Given the description of an element on the screen output the (x, y) to click on. 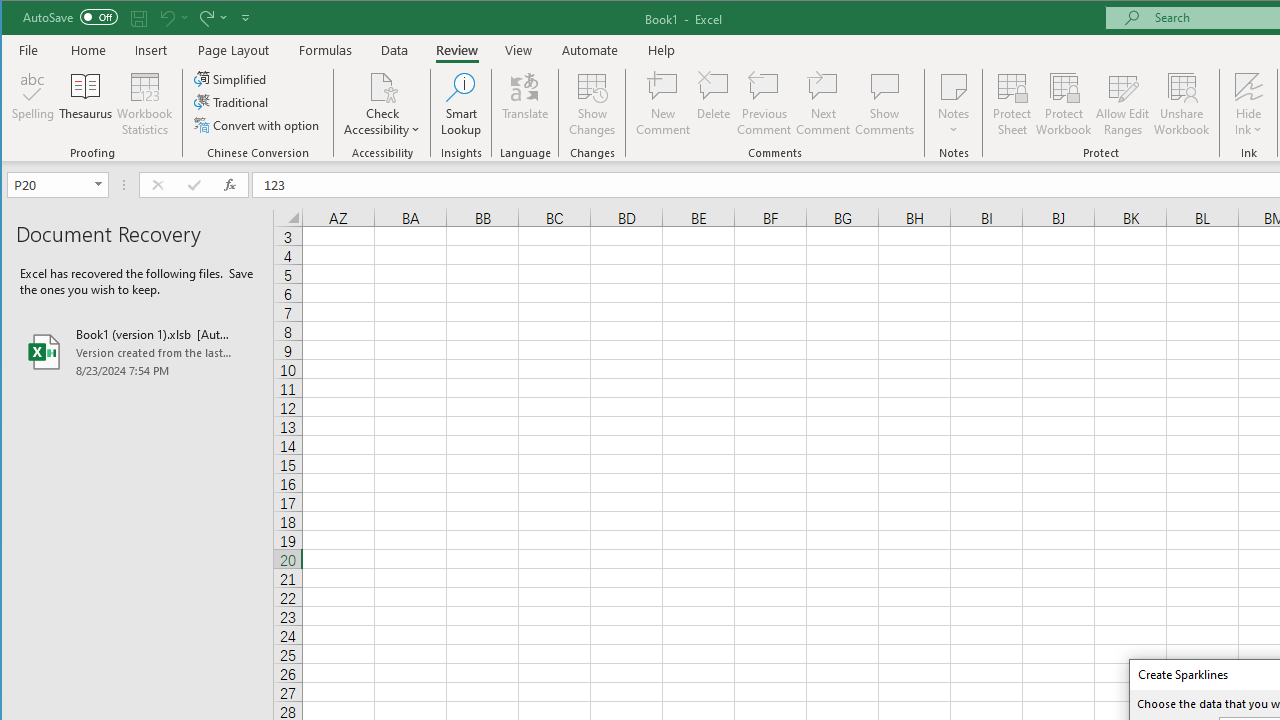
Allow Edit Ranges (1123, 104)
Show Changes (592, 104)
AutoSave (70, 16)
Check Accessibility (381, 86)
Next Comment (822, 104)
Show Comments (884, 104)
